Given the description of an element on the screen output the (x, y) to click on. 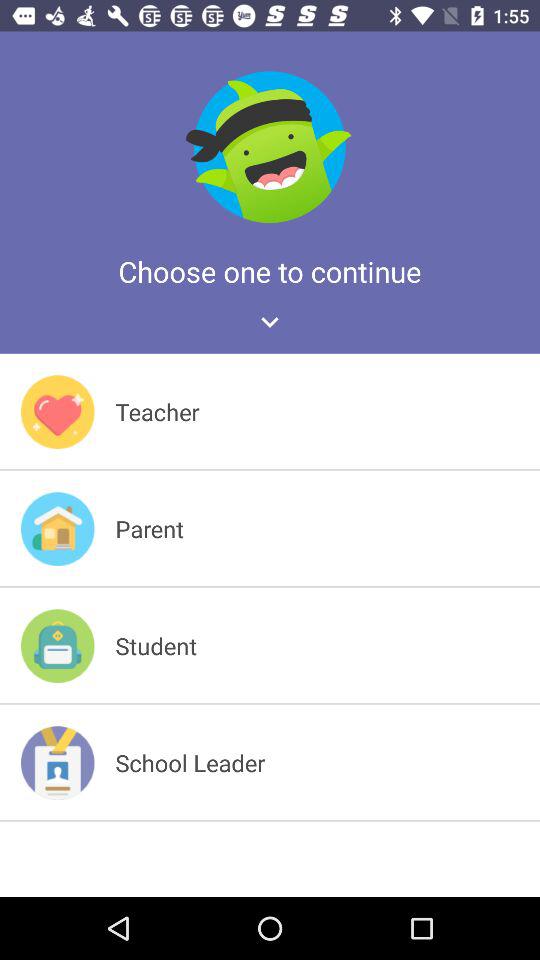
select the icon below the notification bar (270, 146)
